Given the description of an element on the screen output the (x, y) to click on. 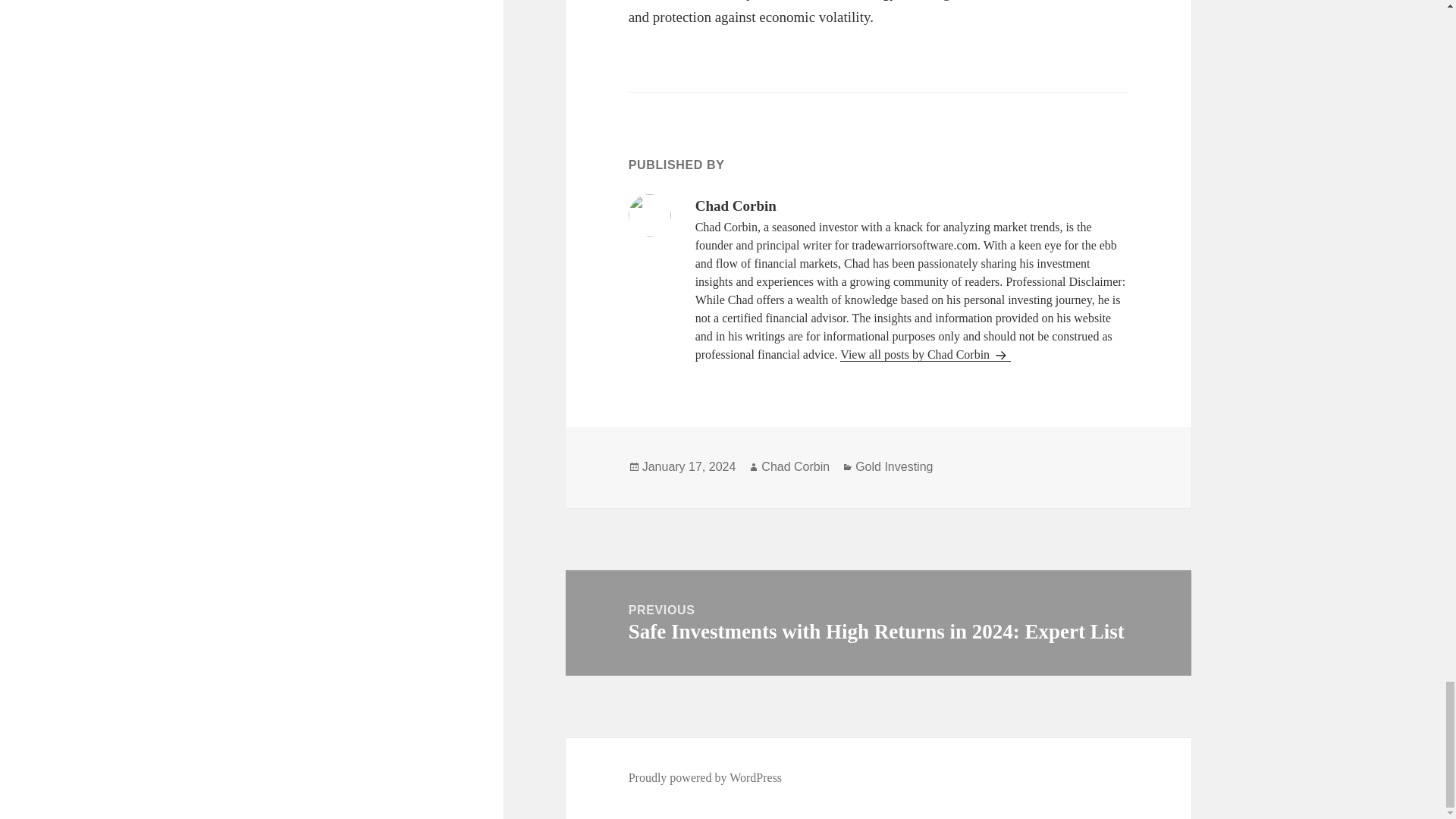
Gold Investing (894, 467)
View all posts by Chad Corbin (925, 354)
January 17, 2024 (689, 467)
Chad Corbin (795, 467)
Proudly powered by WordPress (704, 777)
